Given the description of an element on the screen output the (x, y) to click on. 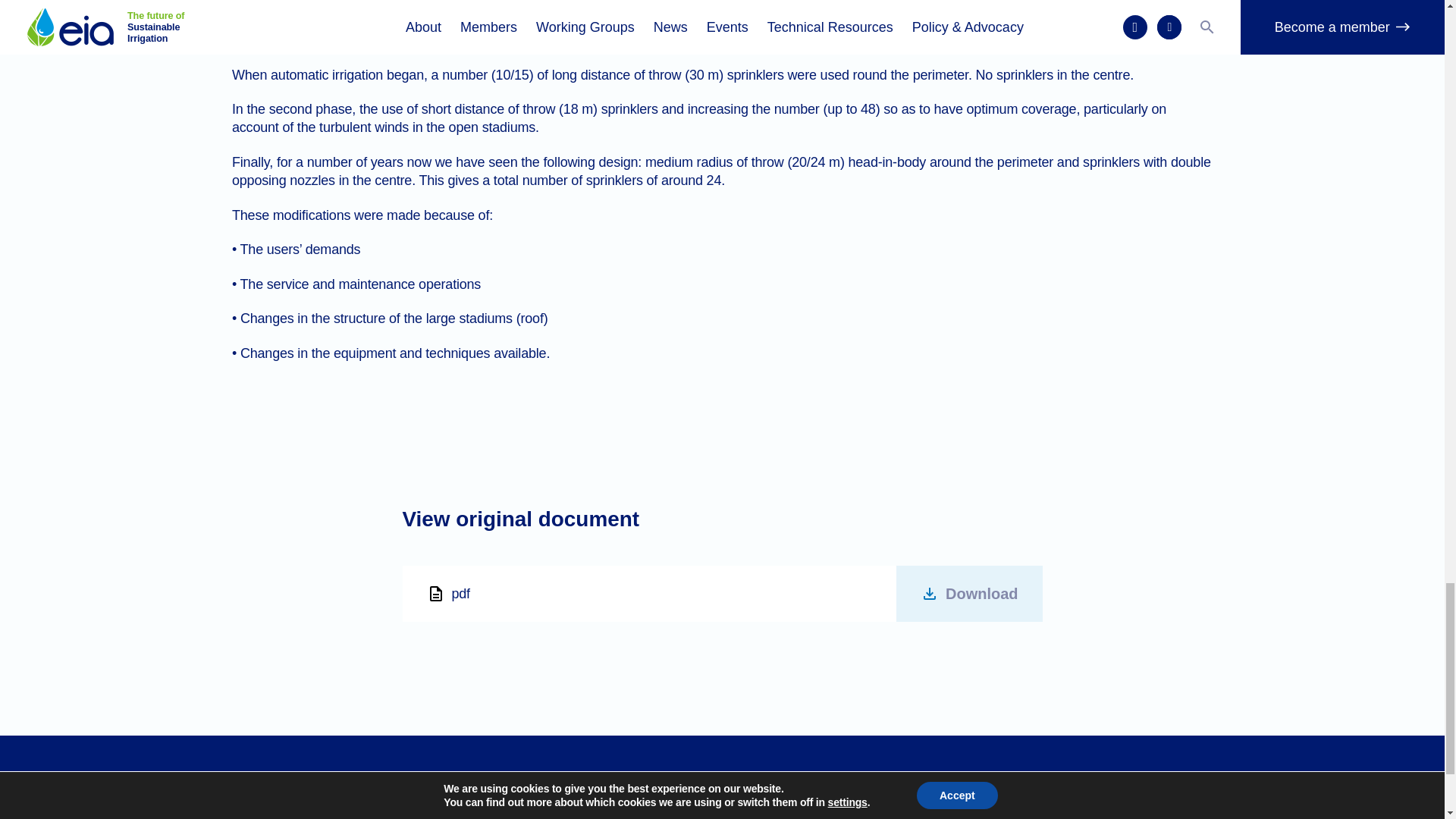
Download (969, 593)
About (575, 809)
Privacy Policy (764, 809)
